Given the description of an element on the screen output the (x, y) to click on. 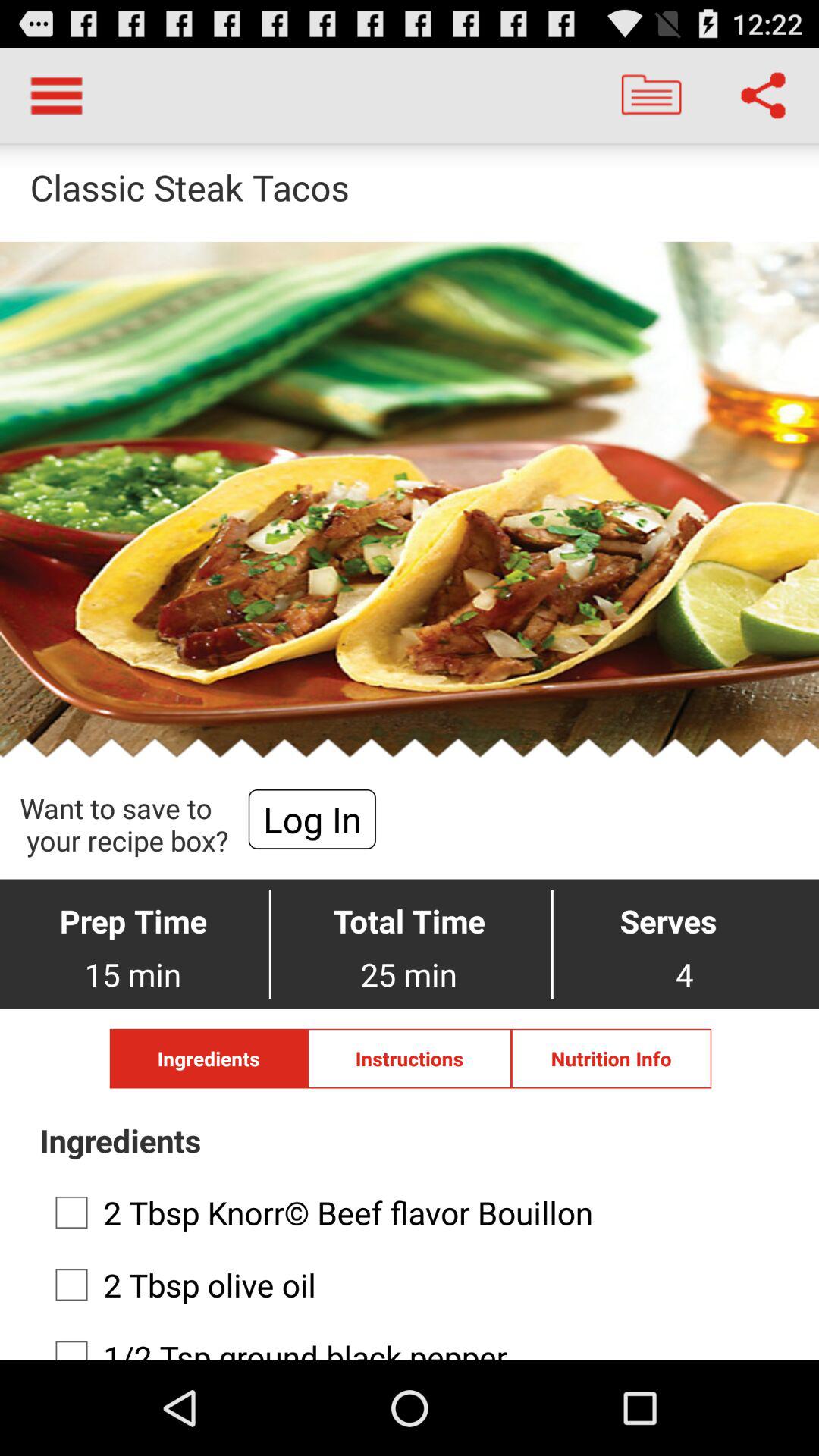
scroll to 1 2 tsp (404, 1342)
